Given the description of an element on the screen output the (x, y) to click on. 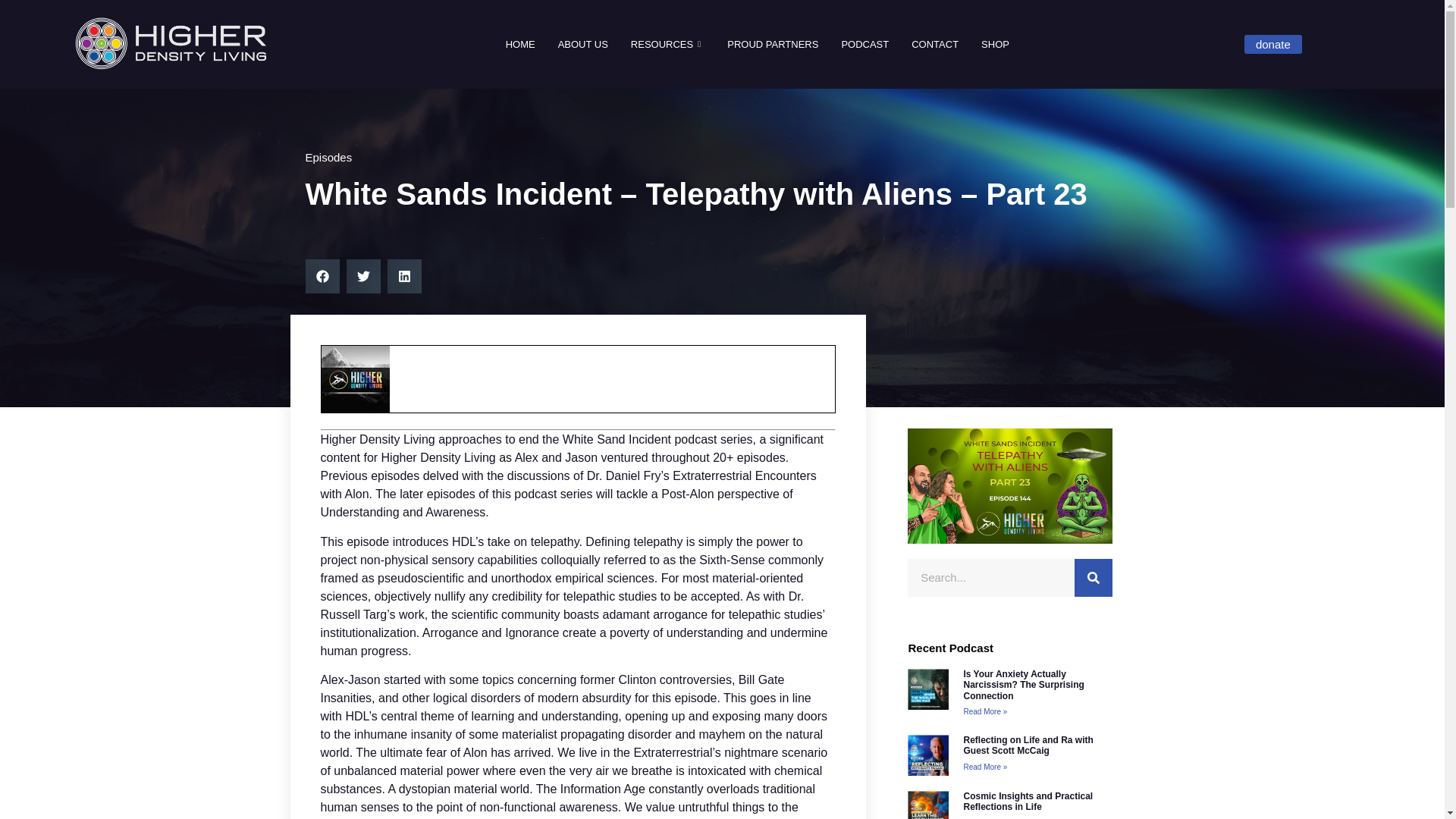
RESOURCES (668, 44)
HOME (521, 44)
Episodes (328, 156)
Reflecting on Life and Ra with Guest Scott McCaig (1027, 744)
donate (1272, 44)
CONTACT (934, 44)
Libsyn Player (577, 378)
PODCAST (864, 44)
PROUD PARTNERS (772, 44)
ABOUT US (583, 44)
SHOP (994, 44)
Cosmic Insights and Practical Reflections in Life (1027, 801)
